Given the description of an element on the screen output the (x, y) to click on. 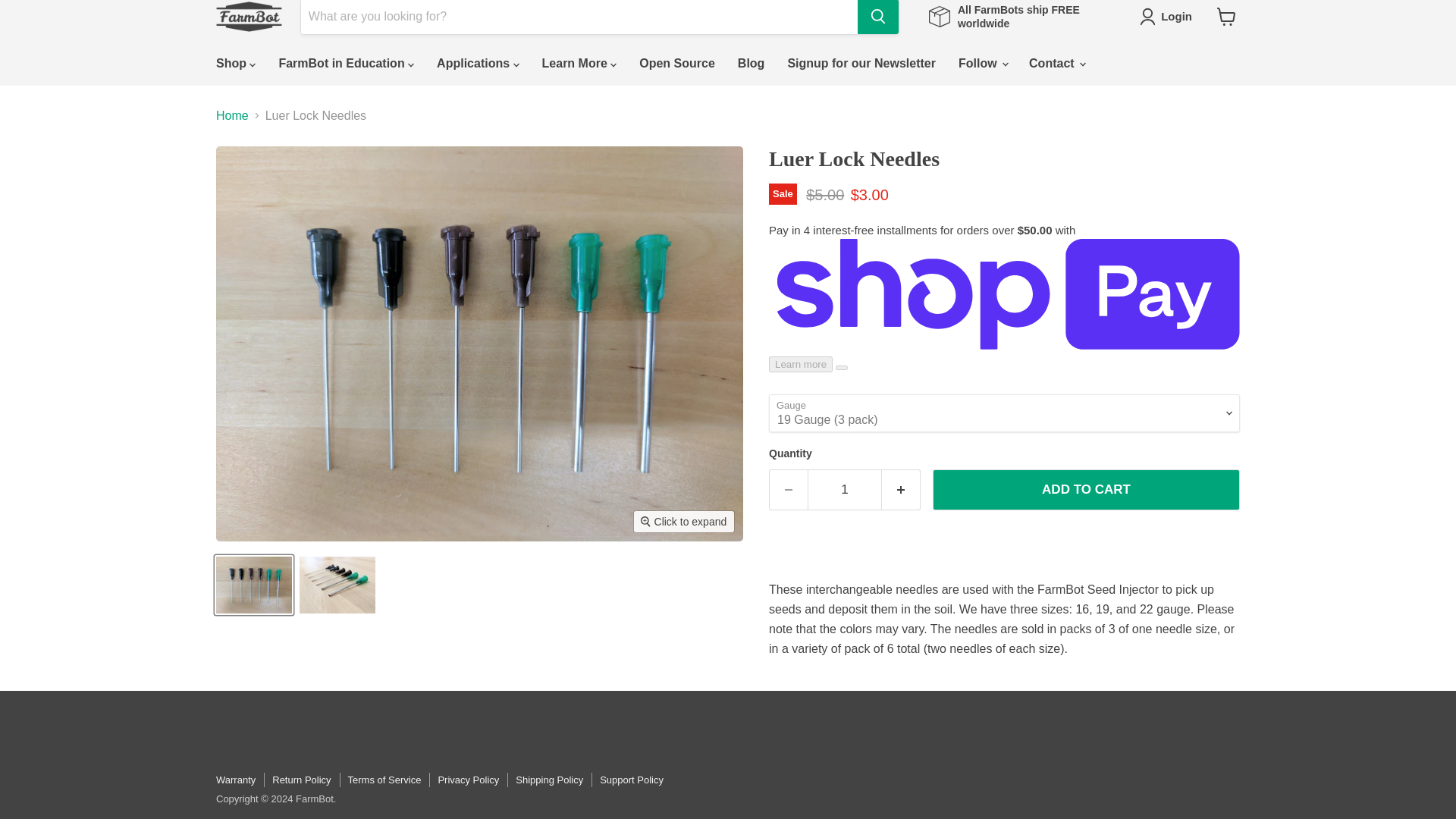
All FarmBots ship FREE worldwide (1018, 16)
Shop now (1018, 16)
1 (845, 489)
FarmBot Homepage (248, 16)
View cart (1226, 16)
Login (1169, 16)
